Given the description of an element on the screen output the (x, y) to click on. 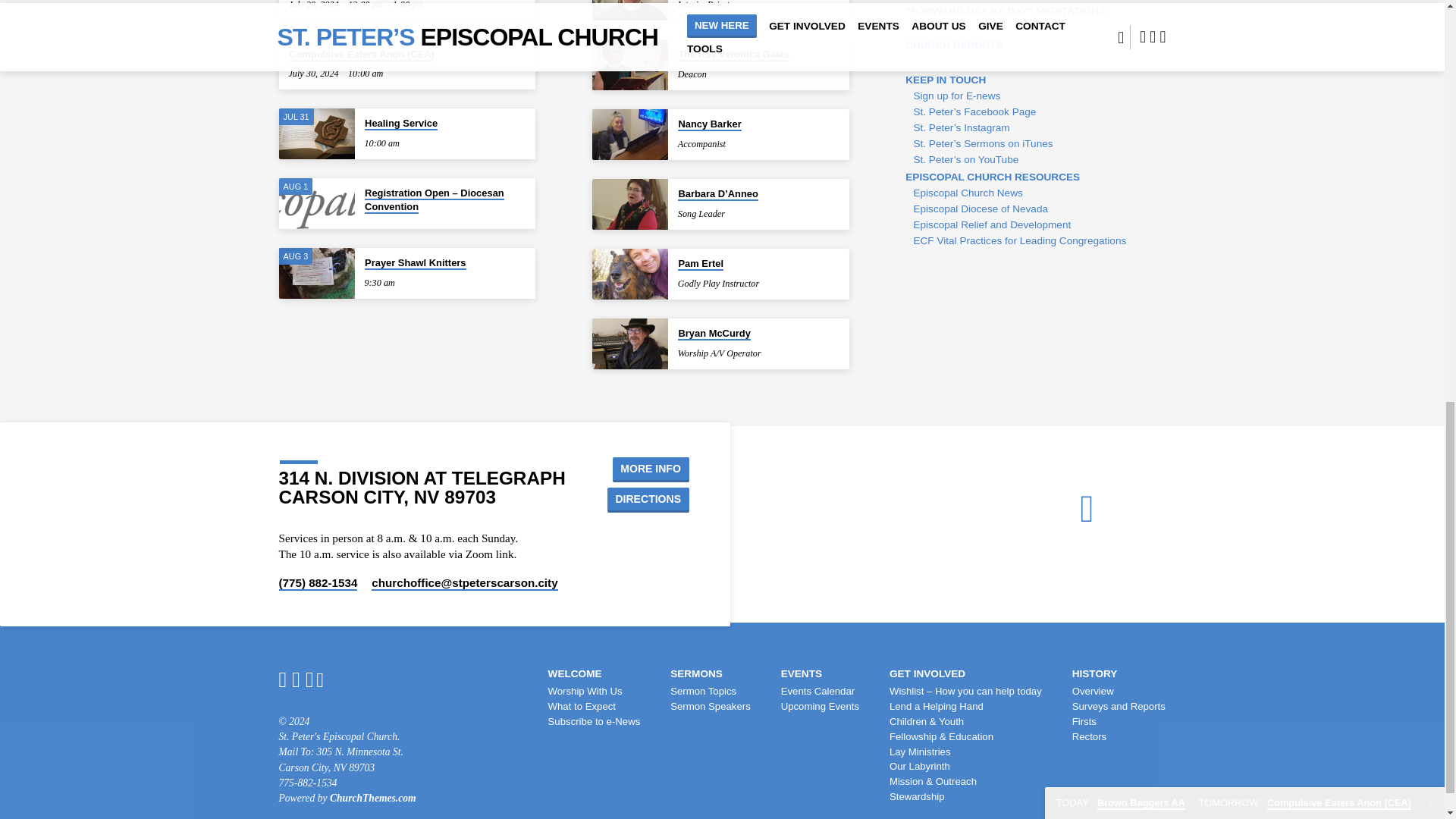
Healing Service (317, 133)
Healing Service (401, 123)
